Given the description of an element on the screen output the (x, y) to click on. 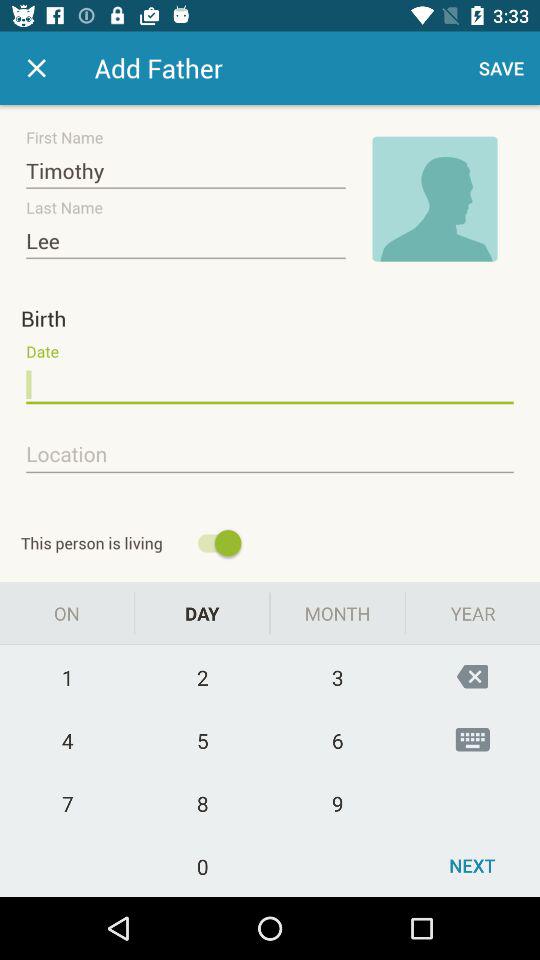
add location (270, 455)
